Given the description of an element on the screen output the (x, y) to click on. 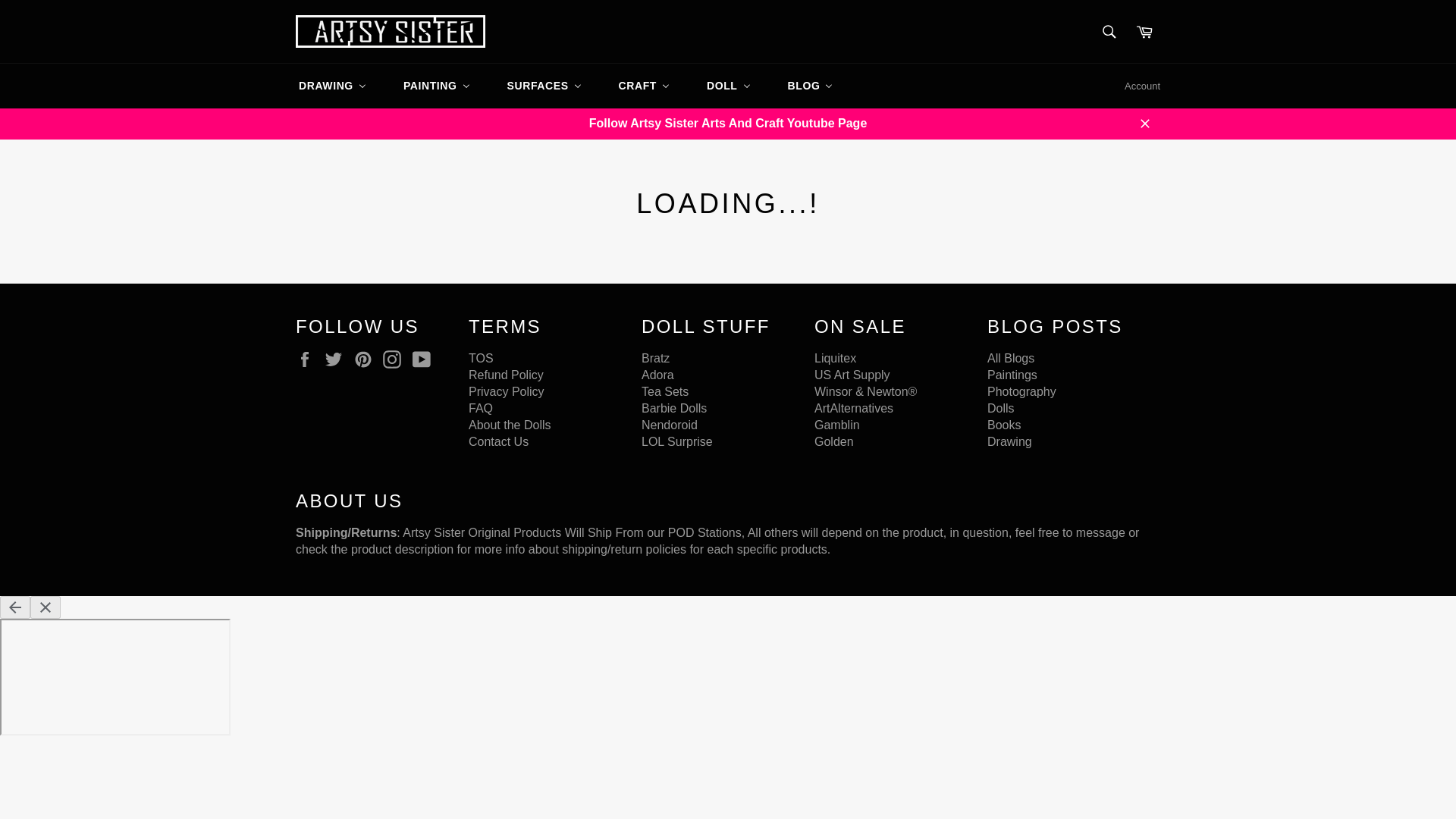
Refund Policy (505, 374)
Artsy Sister - Art Supplies on Instagram (395, 359)
Artsy Sister - Art Supplies on Twitter (337, 359)
Artsy Sister - Art Supplies on Pinterest (366, 359)
Privacy Policy (506, 391)
Artsy Sister - Art Supplies on Facebook (308, 359)
Artsy Sister on YouTube (425, 359)
Terms of Service (480, 358)
